Given the description of an element on the screen output the (x, y) to click on. 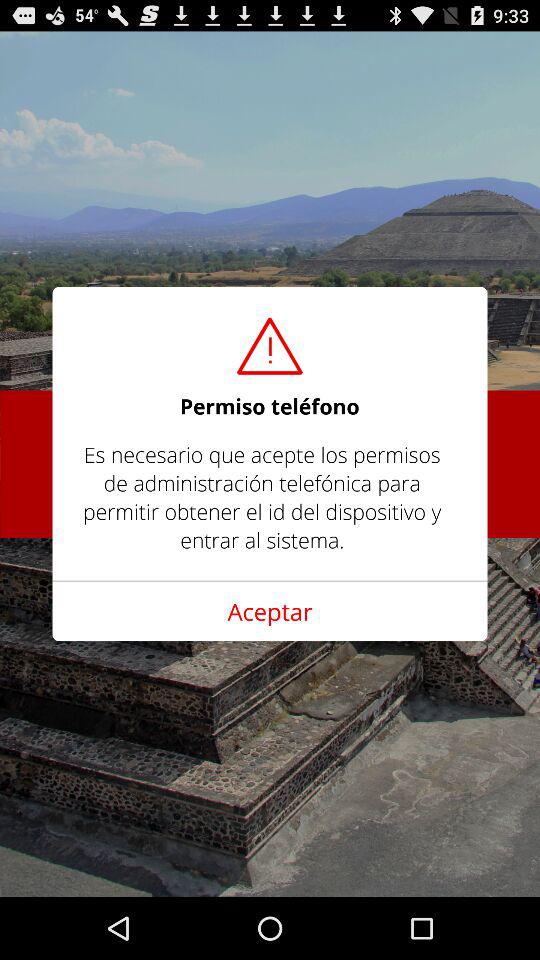
swipe to aceptar icon (269, 611)
